Given the description of an element on the screen output the (x, y) to click on. 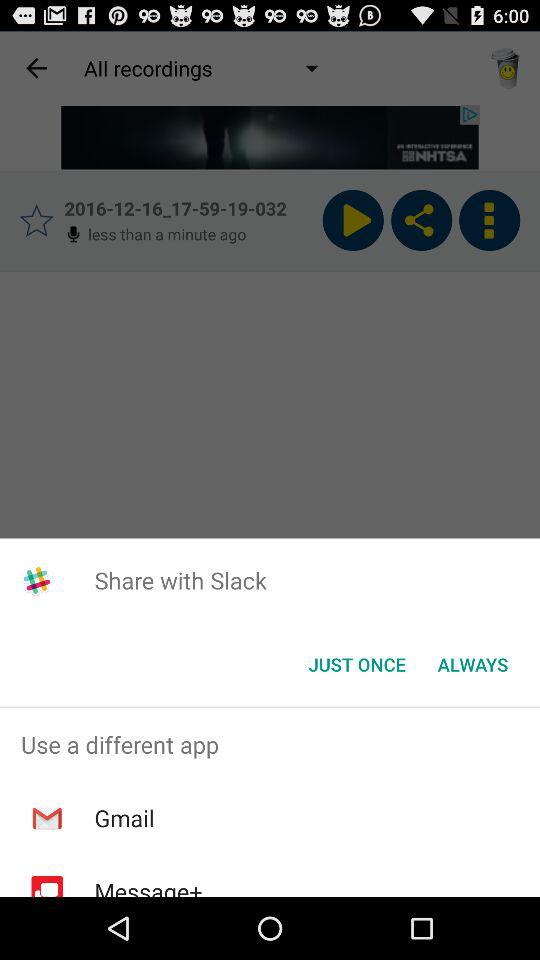
jump until message+ (148, 885)
